Given the description of an element on the screen output the (x, y) to click on. 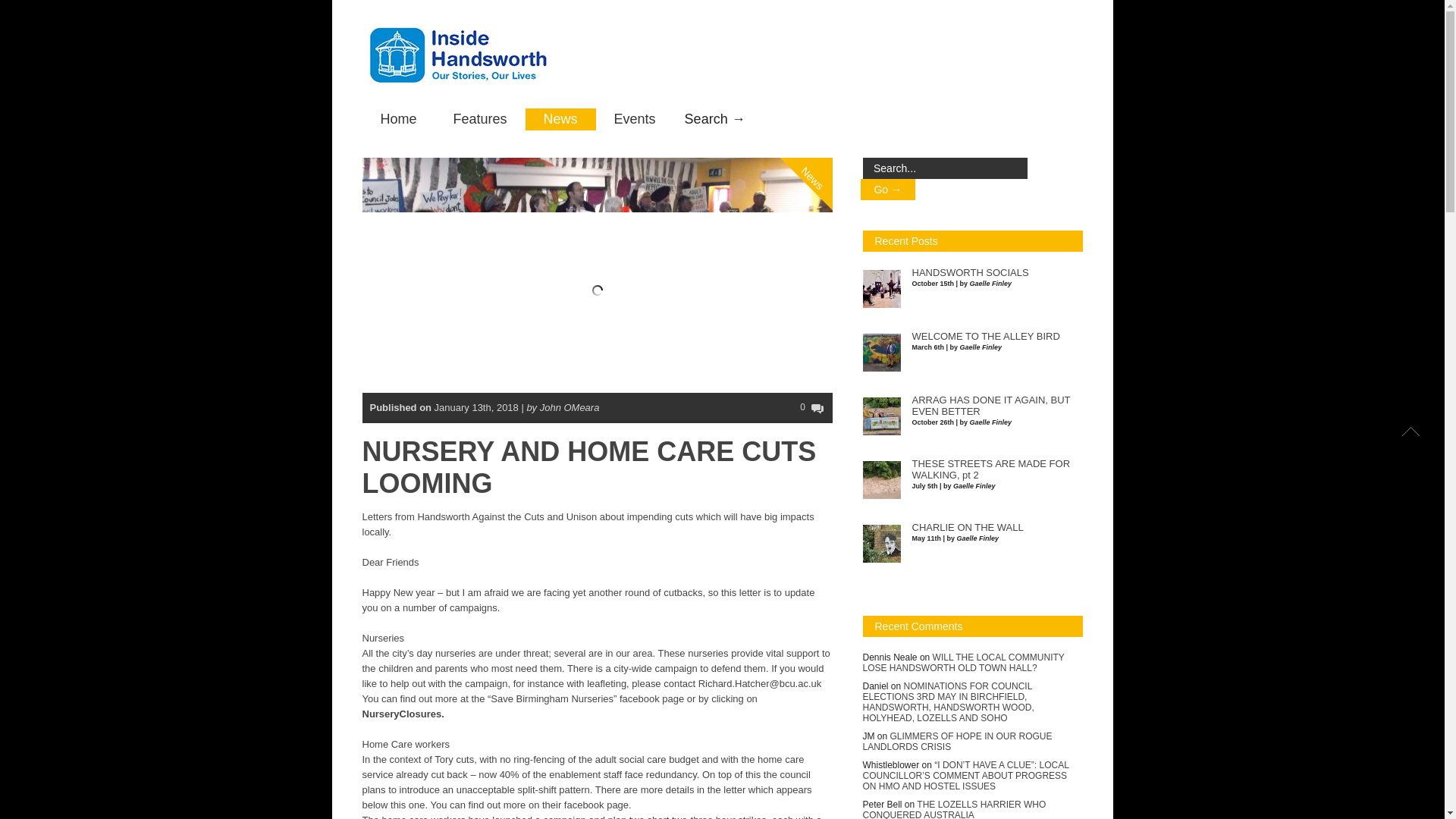
Features (480, 119)
THESE STREETS ARE MADE FOR WALKING, pt 2 (990, 469)
HANDSWORTH SOCIALS (969, 272)
ARRAG HAS DONE IT AGAIN, BUT EVEN BETTER (990, 405)
CHARLIE ON THE WALL (967, 527)
Home (398, 119)
THESE STREETS ARE MADE FOR WALKING, pt 2 (990, 469)
WELCOME TO THE ALLEY BIRD (985, 336)
GLIMMERS OF HOPE IN OUR ROGUE LANDLORDS CRISIS (957, 741)
Events (634, 119)
WELCOME TO THE ALLEY BIRD (985, 336)
ARRAG HAS DONE IT AGAIN, BUT EVEN BETTER (990, 405)
NurseryClosures. (403, 713)
THE LOZELLS HARRIER WHO CONQUERED AUSTRALIA (954, 809)
CHARLIE ON THE WALL (967, 527)
